Given the description of an element on the screen output the (x, y) to click on. 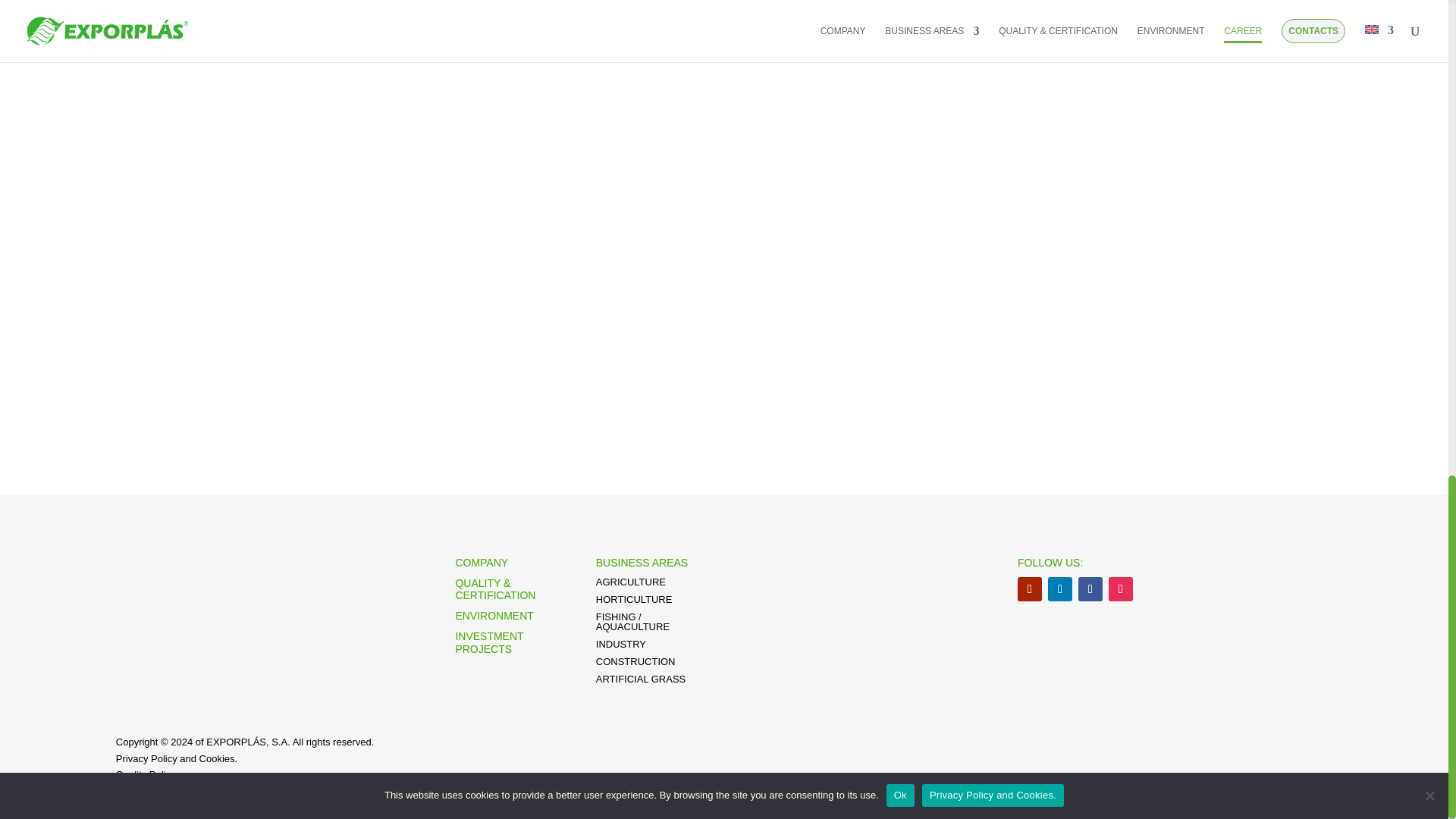
SUBMIT APPLICATION (372, 379)
Follow on Youtube (1029, 589)
Follow on LinkedIn (1059, 589)
Follow on Facebook (1090, 589)
Follow on Instagram (1120, 589)
